Given the description of an element on the screen output the (x, y) to click on. 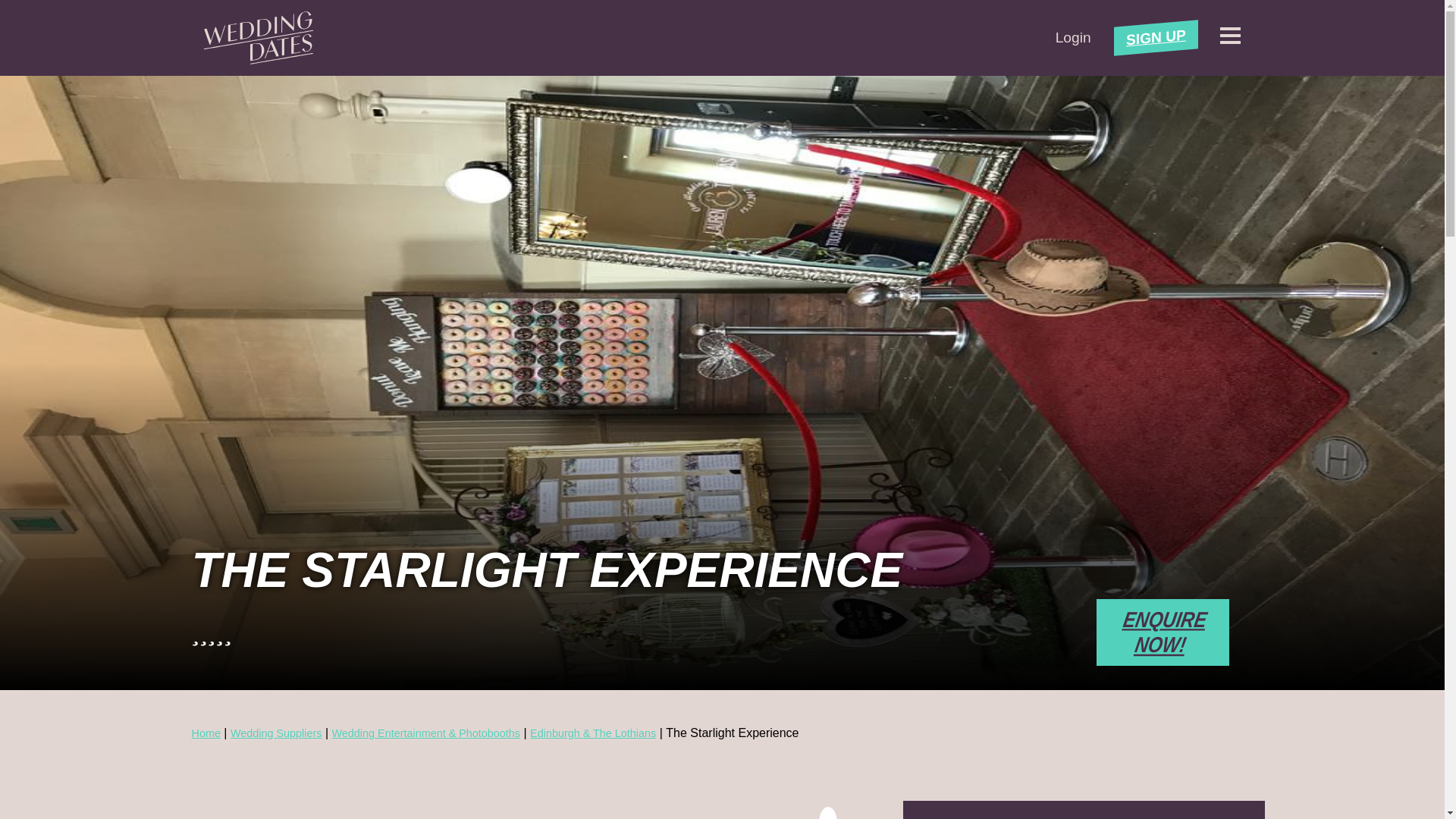
ENQUIRE NOW! (1162, 631)
weddingdates (258, 37)
Wedding Suppliers (275, 733)
Login (1072, 37)
Home (204, 733)
SIGN UP (1155, 33)
